Given the description of an element on the screen output the (x, y) to click on. 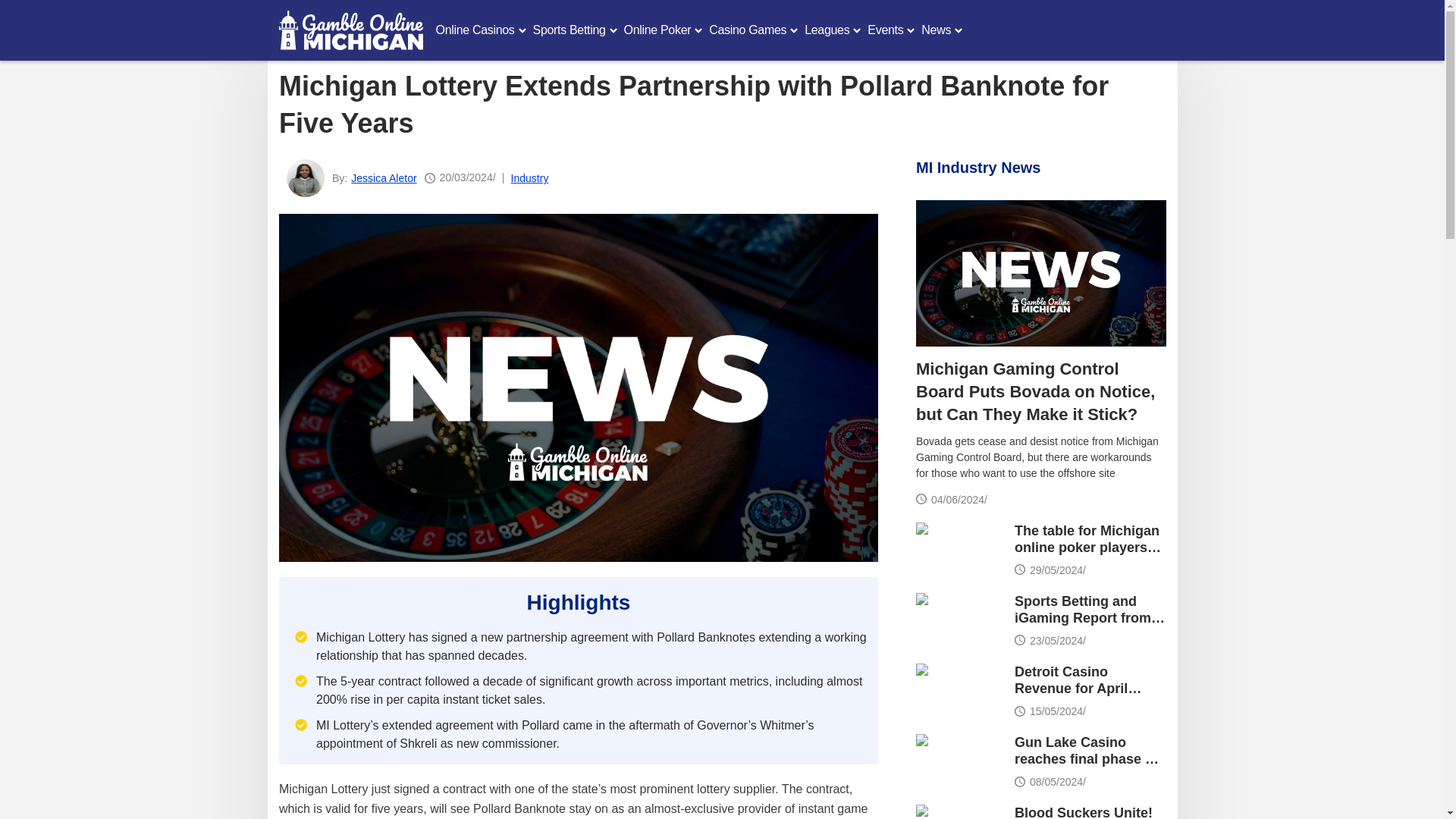
Online Casinos (475, 30)
News (959, 547)
News (959, 688)
News (1040, 272)
News (959, 758)
Casino Games (747, 30)
News (959, 811)
News (959, 617)
Online Poker (657, 30)
